Given the description of an element on the screen output the (x, y) to click on. 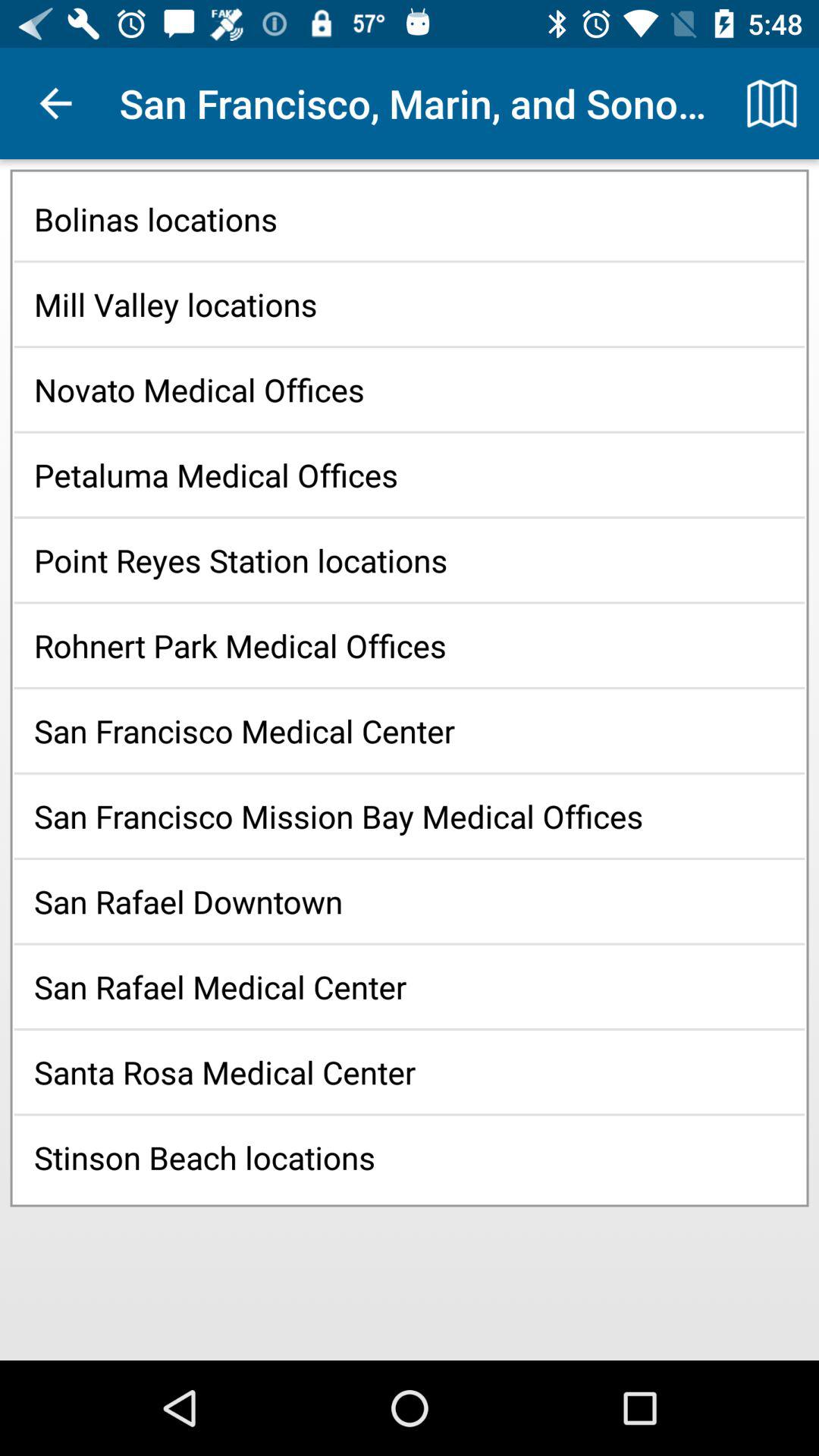
launch icon below bolinas locations icon (409, 303)
